Given the description of an element on the screen output the (x, y) to click on. 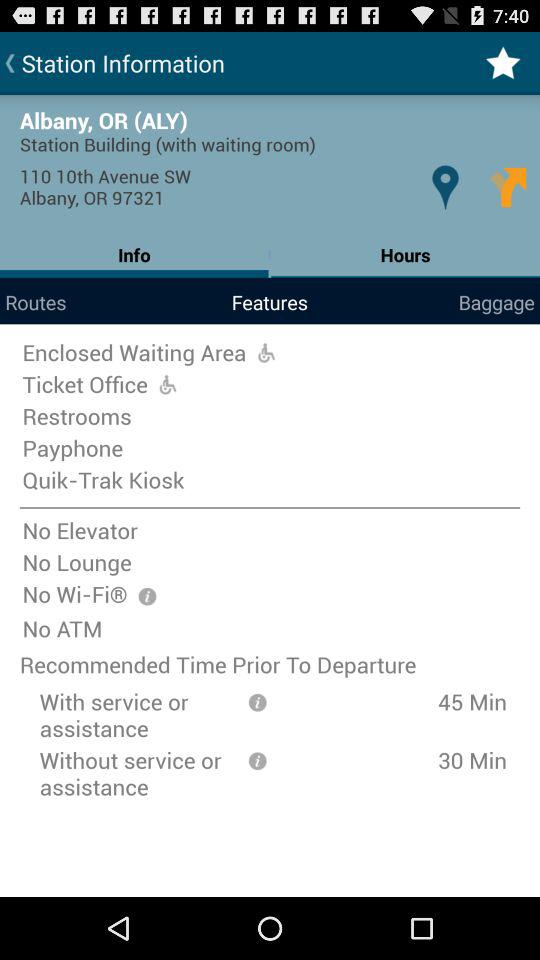
turn on the icon above the hours (508, 186)
